Given the description of an element on the screen output the (x, y) to click on. 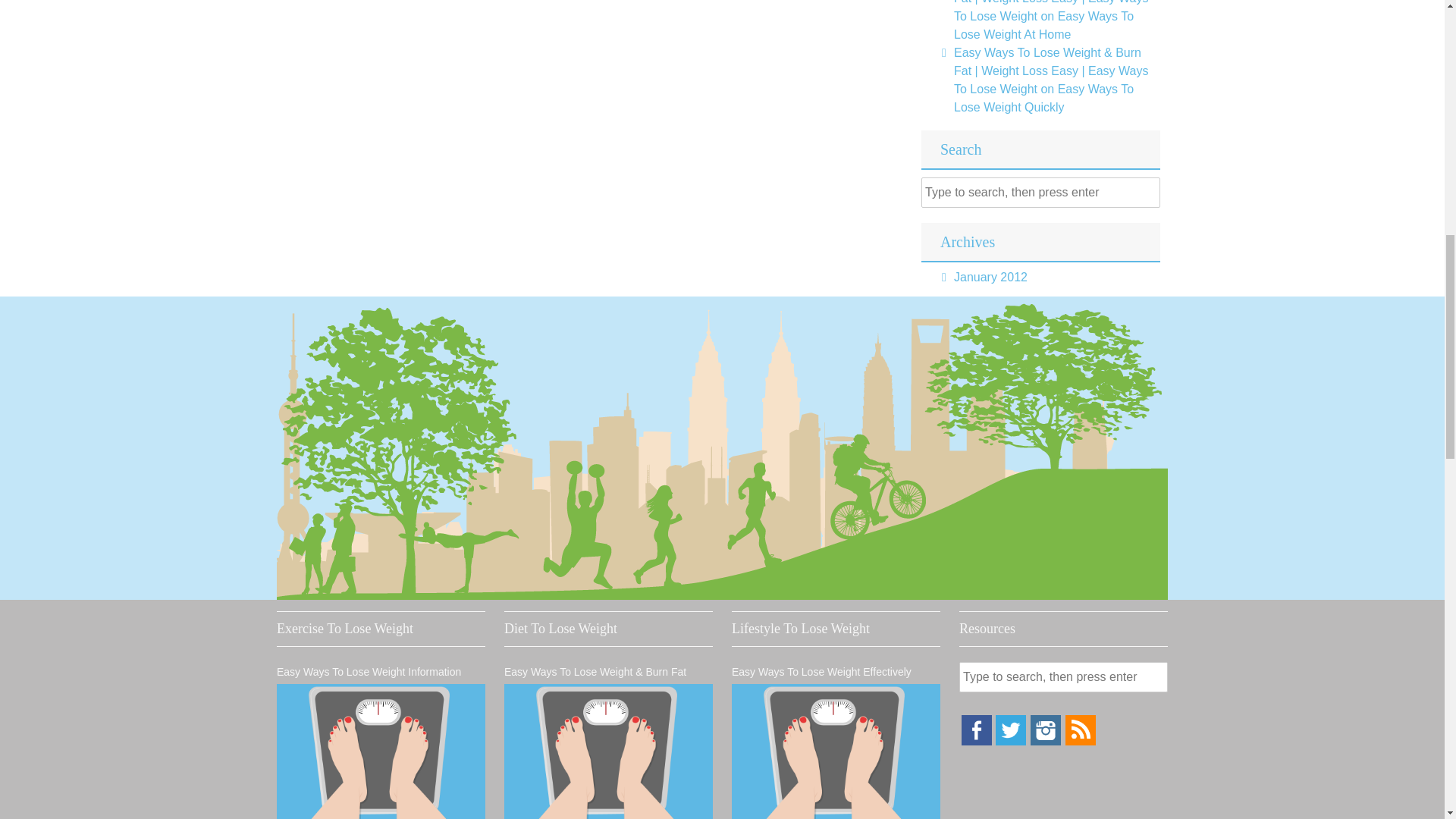
Easy Ways To Lose Weight Information (380, 751)
Type to search, then press enter (1063, 676)
Easy Ways To Lose Weight Quickly (1043, 97)
Type to search, then press enter (1040, 192)
Easy Ways To Lose Weight At Home (1043, 24)
